Given the description of an element on the screen output the (x, y) to click on. 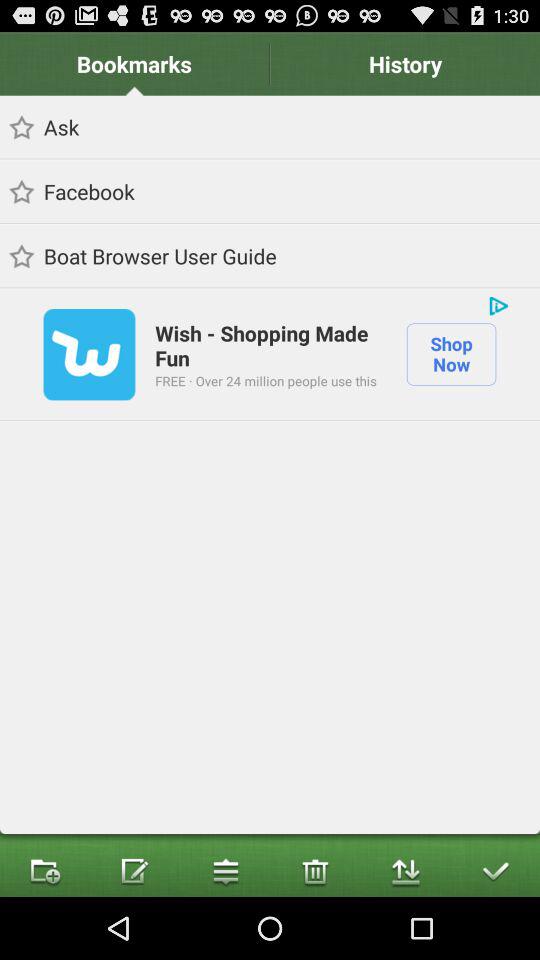
turn on the shop now app (451, 354)
